Given the description of an element on the screen output the (x, y) to click on. 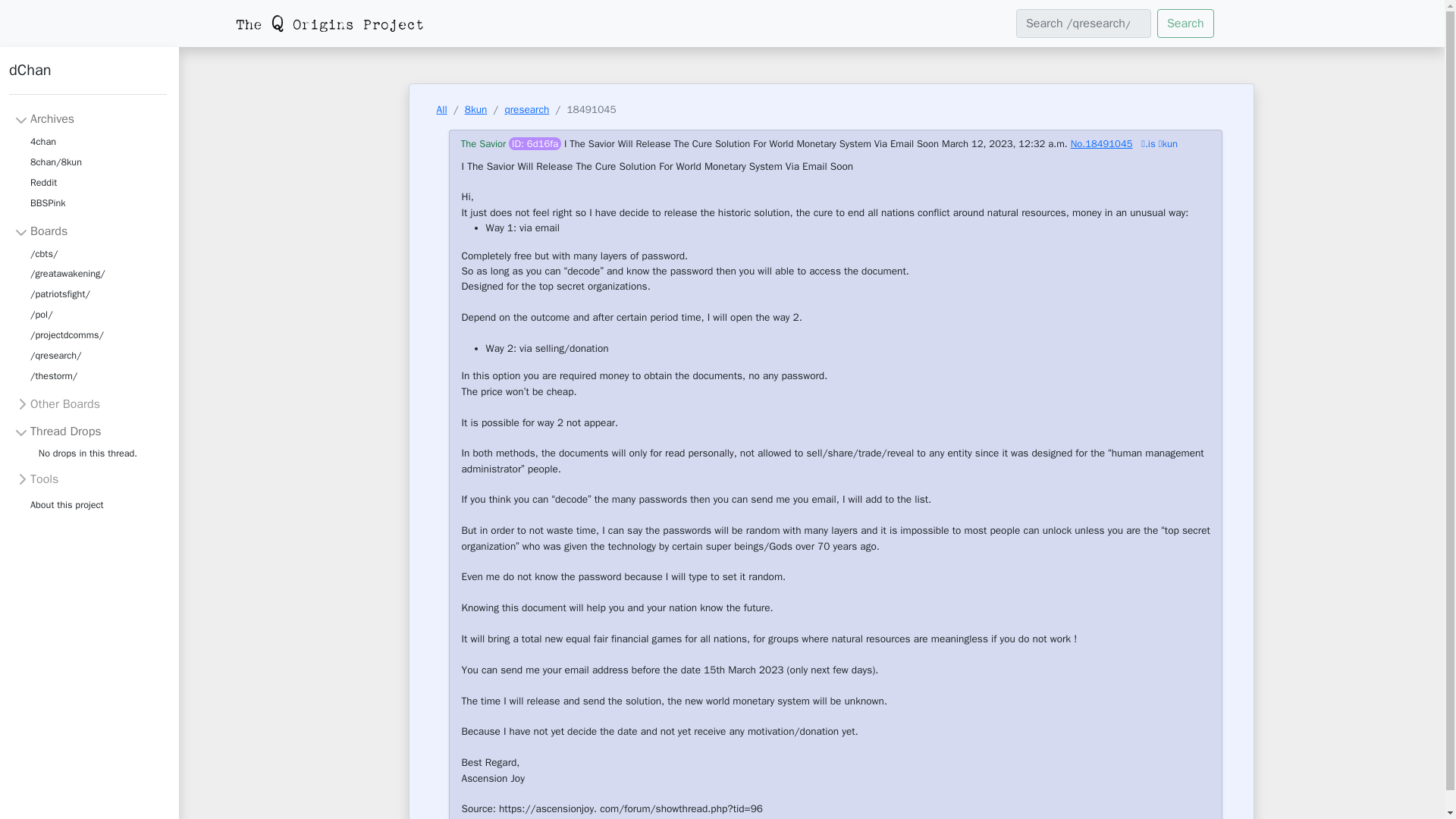
Search (1185, 23)
4chan (43, 141)
Archives (44, 119)
BBSPink (47, 203)
dChan (87, 76)
Boards (41, 231)
Reddit (43, 182)
Other Boards (57, 404)
